Given the description of an element on the screen output the (x, y) to click on. 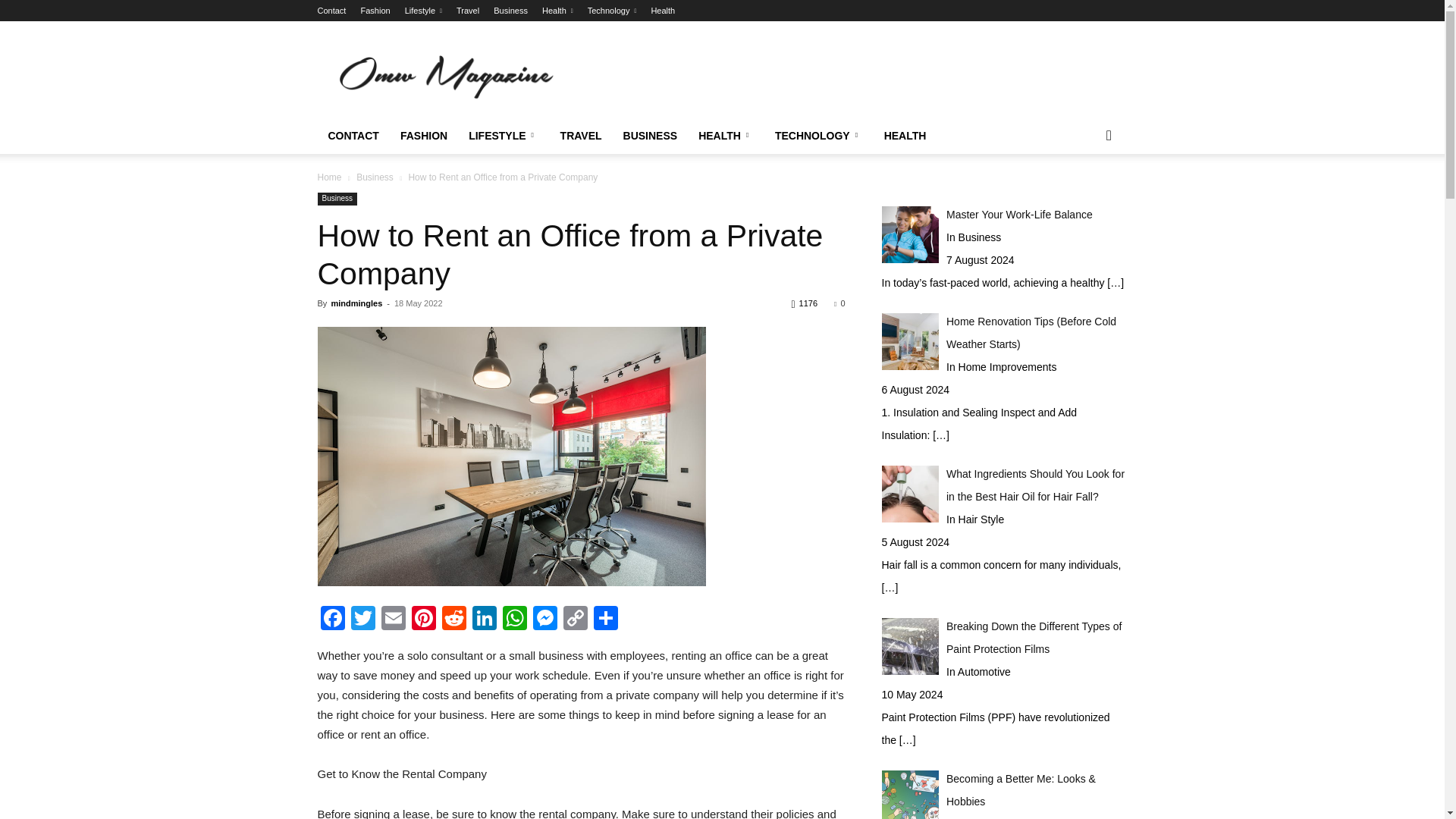
BUSINESS (650, 135)
Health (557, 10)
TRAVEL (581, 135)
How to Rent an Office from a Private Company (510, 456)
HEALTH (905, 135)
Messenger (544, 619)
LIFESTYLE (503, 135)
Facebook (332, 619)
Twitter (362, 619)
Technology (612, 10)
